Given the description of an element on the screen output the (x, y) to click on. 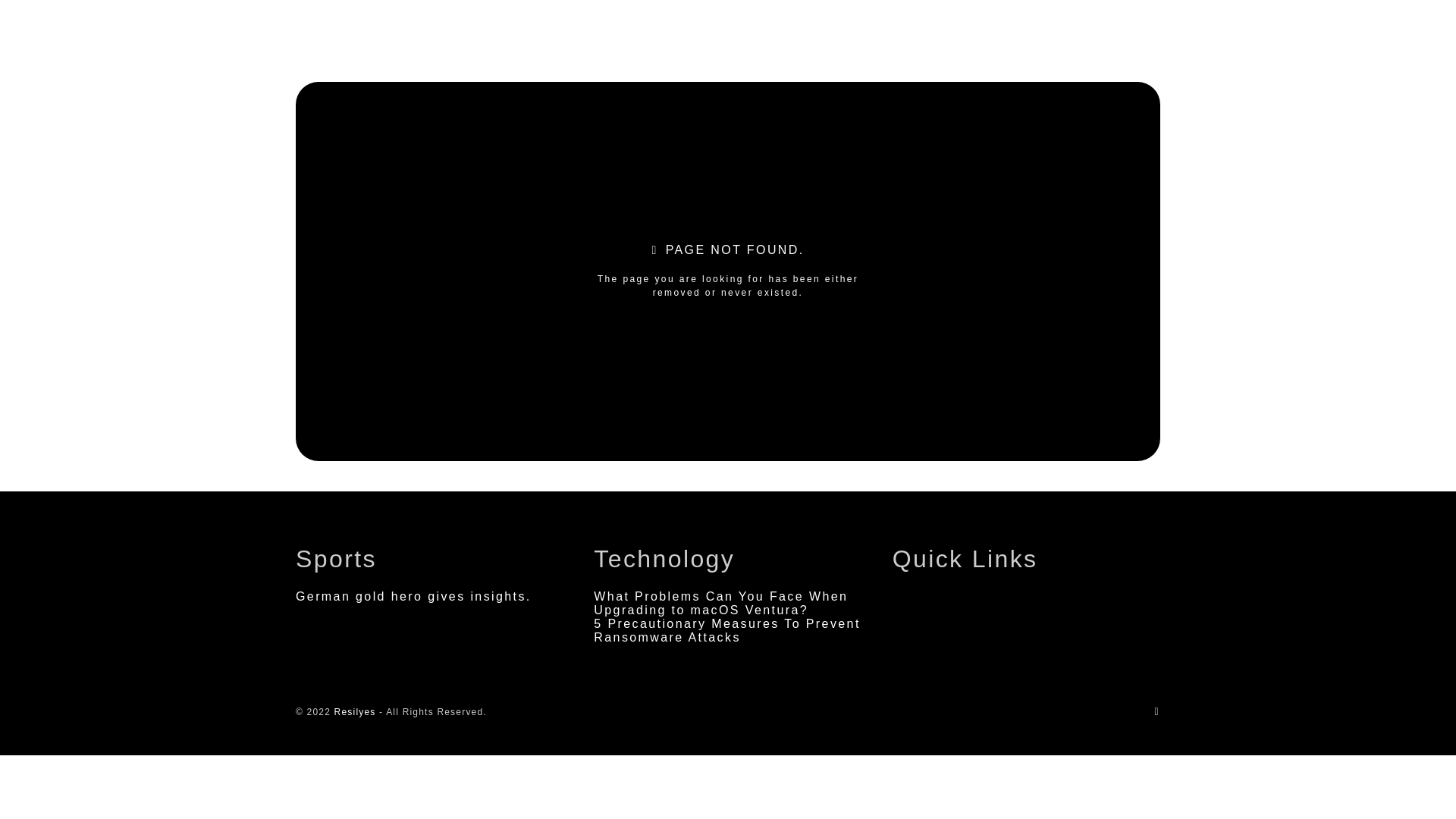
5 Precautionary Measures To Prevent Ransomware Attacks (727, 630)
What Problems Can You Face When Upgrading to macOS Ventura? (720, 602)
German gold hero gives insights. (413, 595)
